Given the description of an element on the screen output the (x, y) to click on. 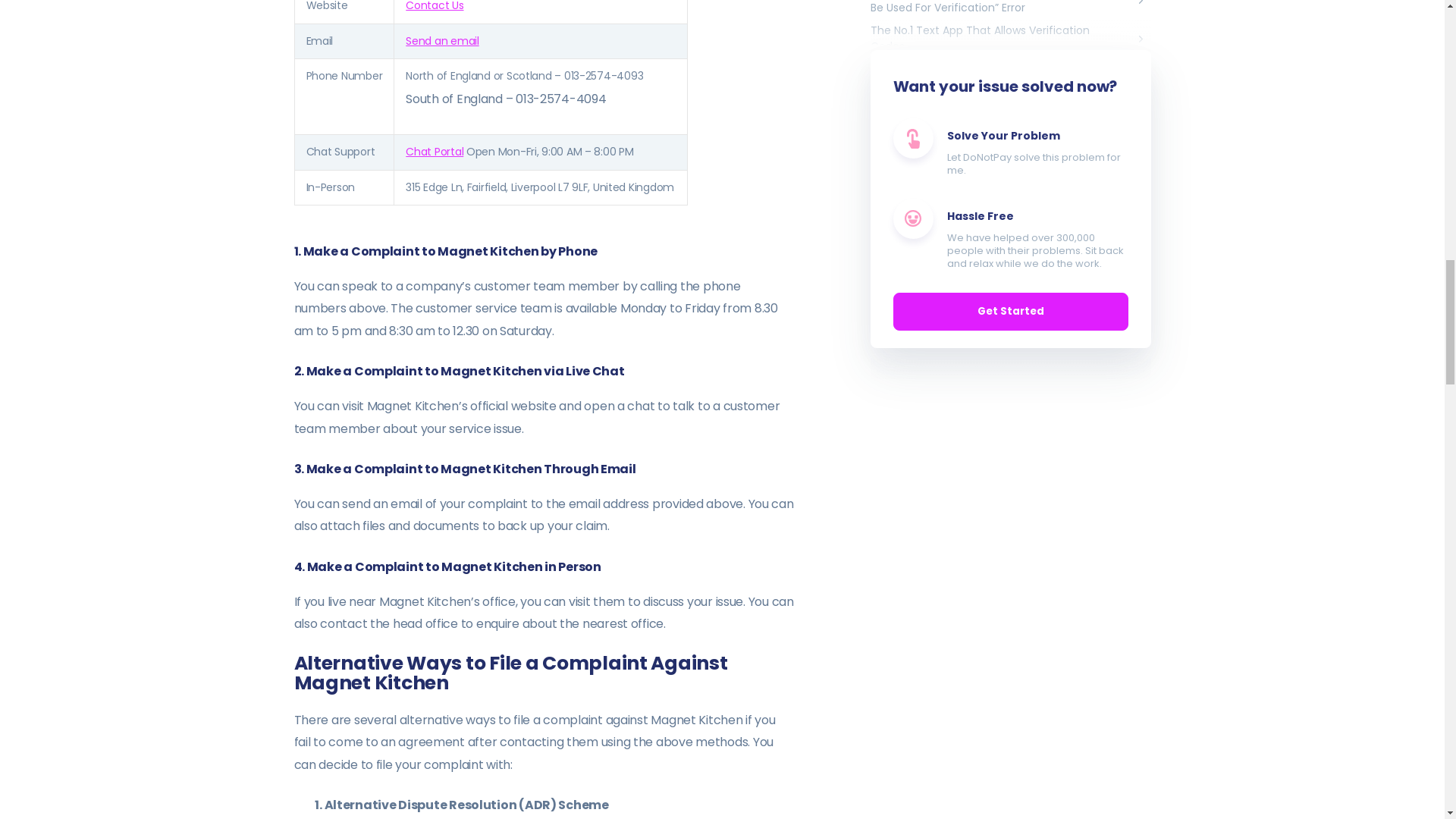
Chat Portal (434, 151)
Send an email (442, 40)
Contact Us (434, 6)
